Given the description of an element on the screen output the (x, y) to click on. 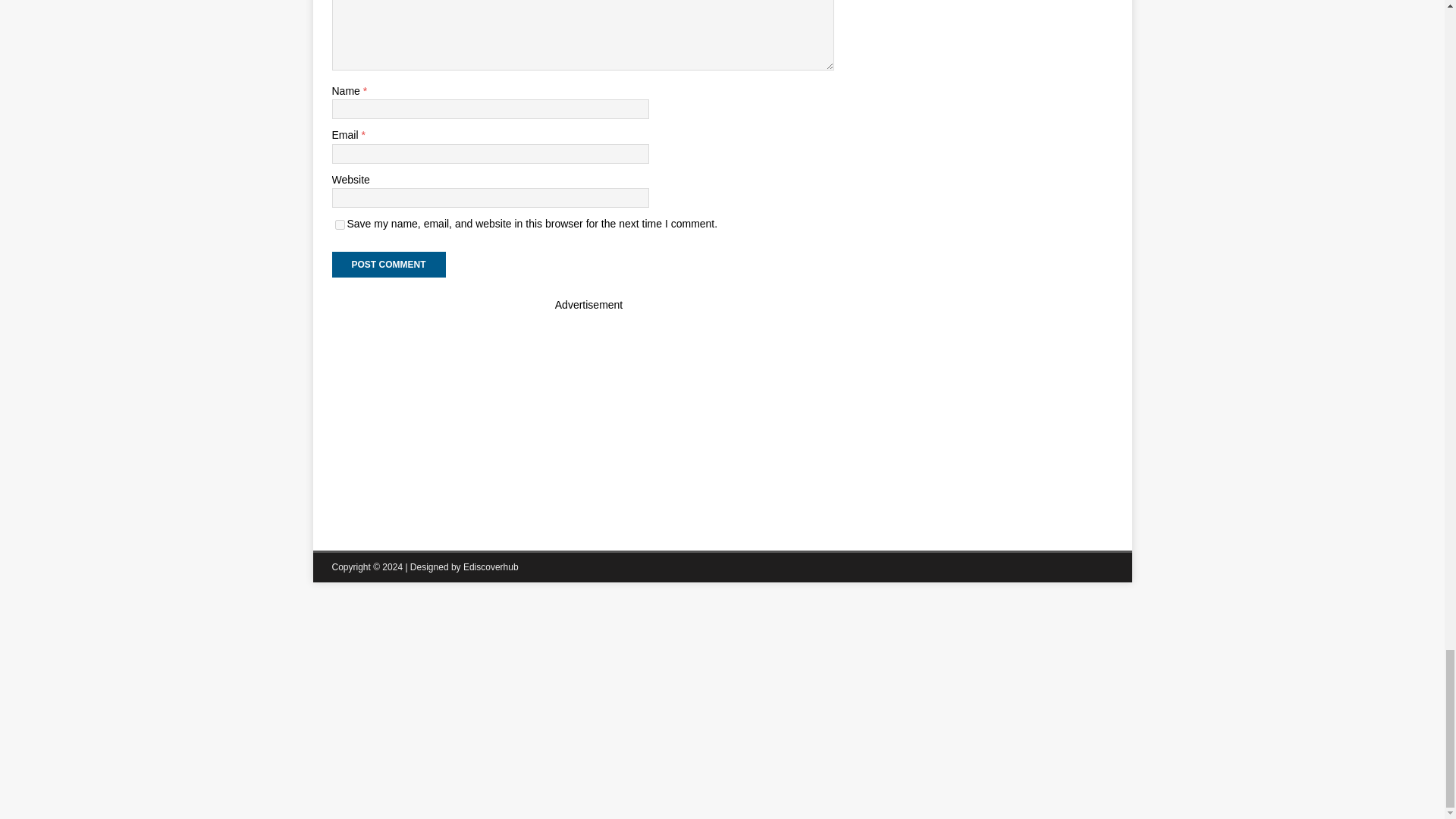
Post Comment (388, 264)
Post Comment (388, 264)
yes (339, 225)
